Given the description of an element on the screen output the (x, y) to click on. 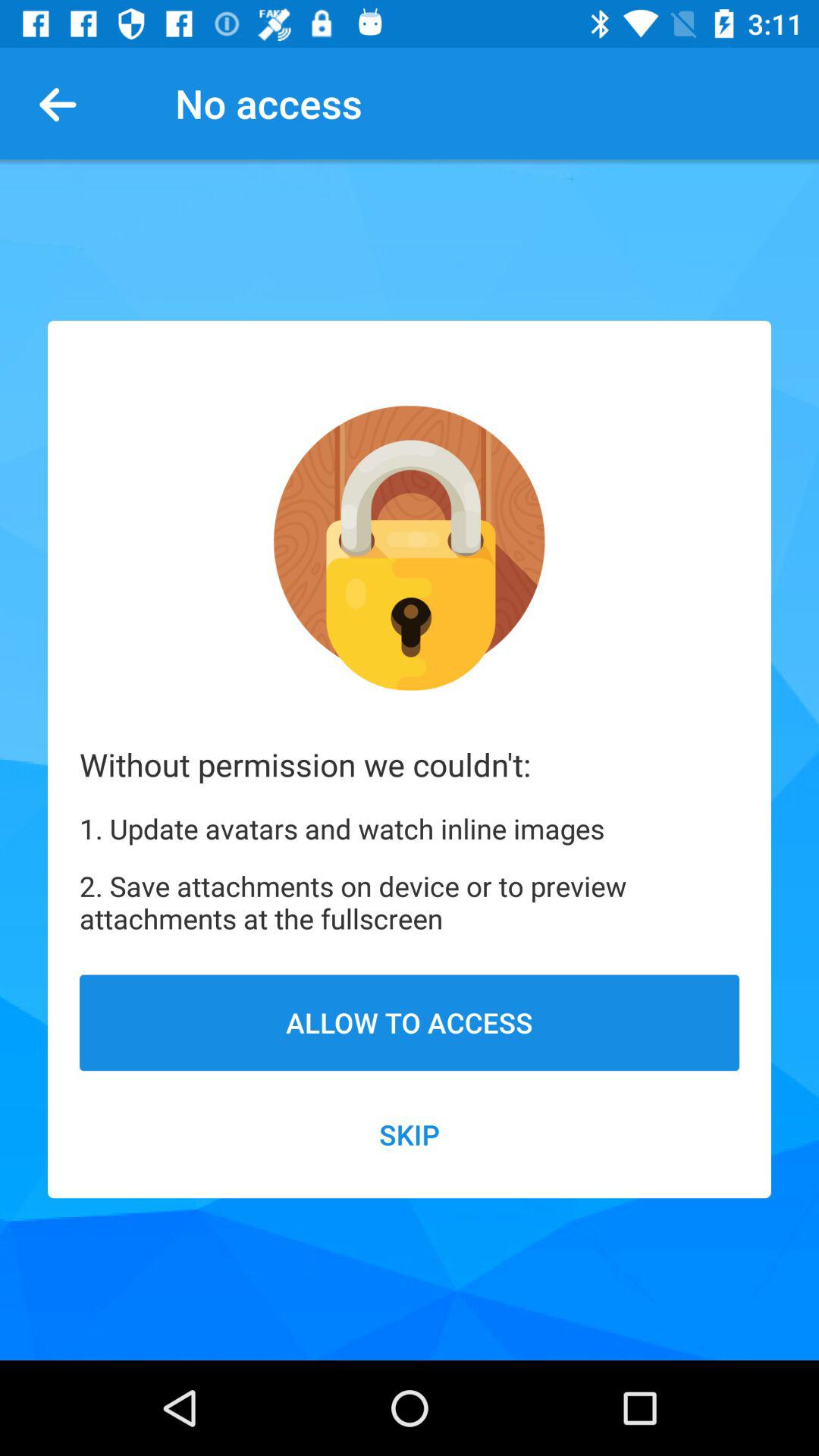
turn on the item below 2 save attachments item (409, 1022)
